Given the description of an element on the screen output the (x, y) to click on. 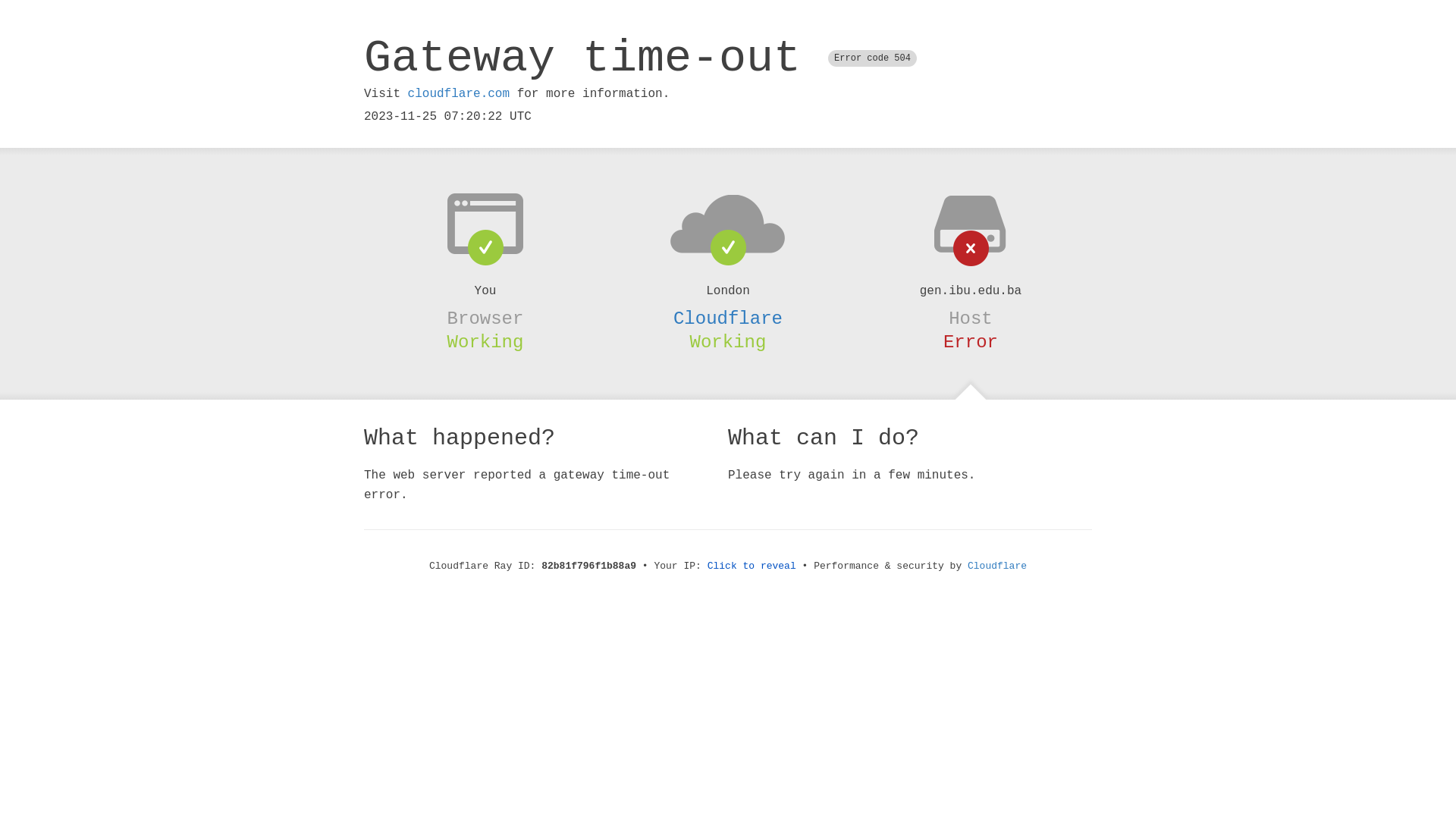
Cloudflare Element type: text (727, 318)
Click to reveal Element type: text (751, 565)
Cloudflare Element type: text (996, 565)
cloudflare.com Element type: text (458, 93)
